Given the description of an element on the screen output the (x, y) to click on. 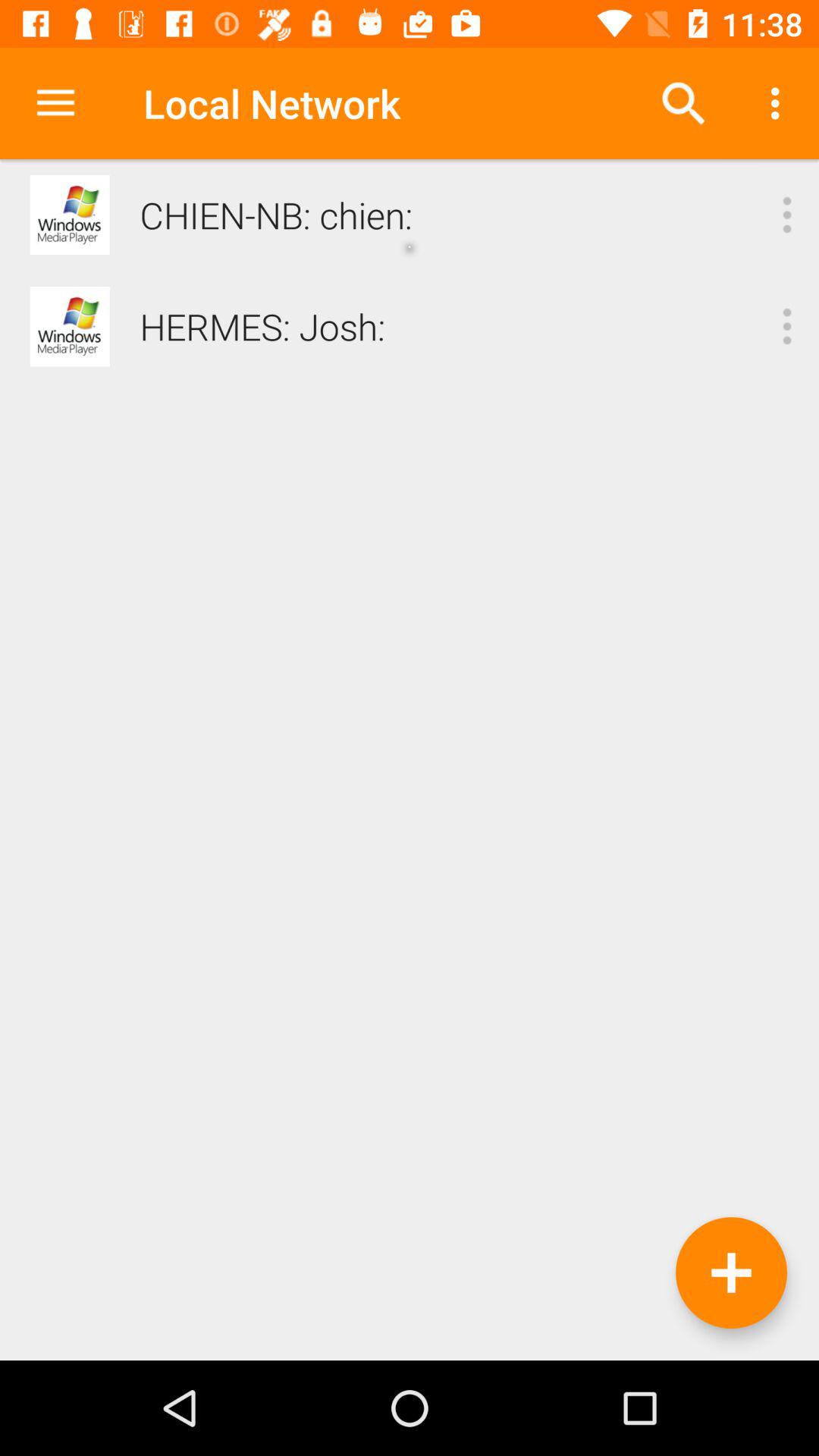
add new (731, 1272)
